Given the description of an element on the screen output the (x, y) to click on. 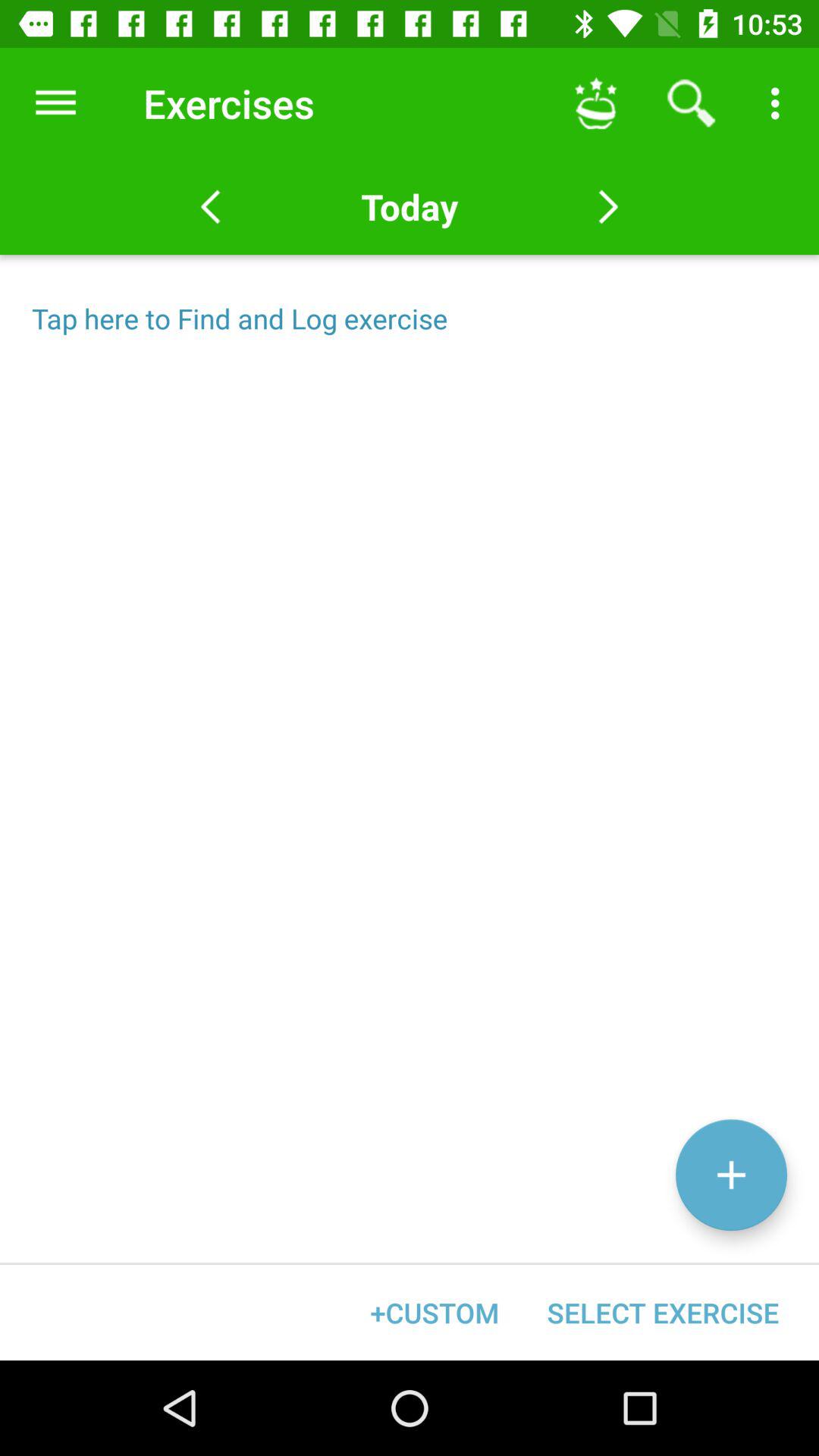
choose the item at the top (409, 206)
